Given the description of an element on the screen output the (x, y) to click on. 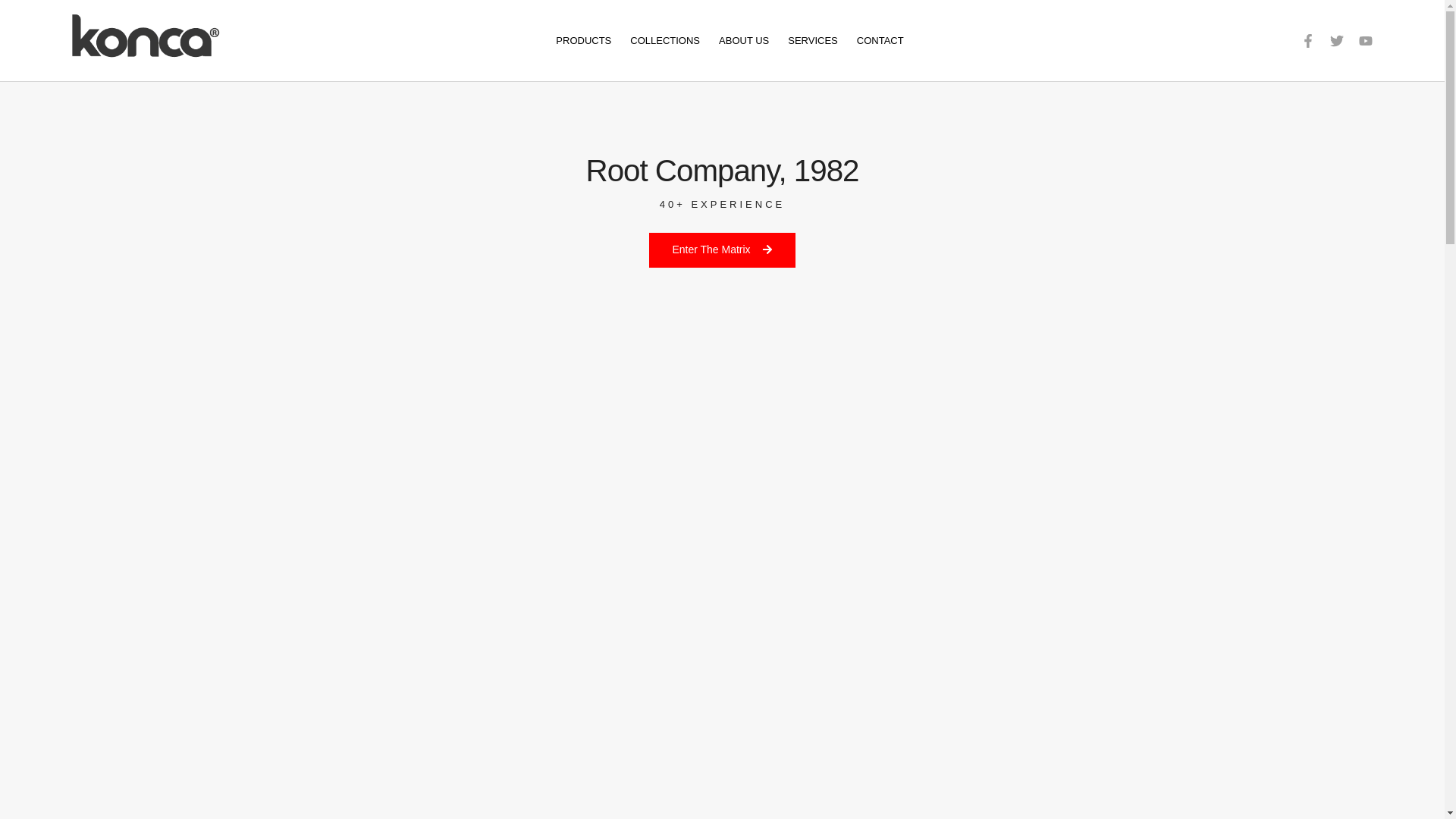
Enter The Matrix (721, 249)
SERVICES (812, 40)
COLLECTIONS (665, 40)
CONTACT (880, 40)
PRODUCTS (583, 40)
ABOUT US (743, 40)
